Given the description of an element on the screen output the (x, y) to click on. 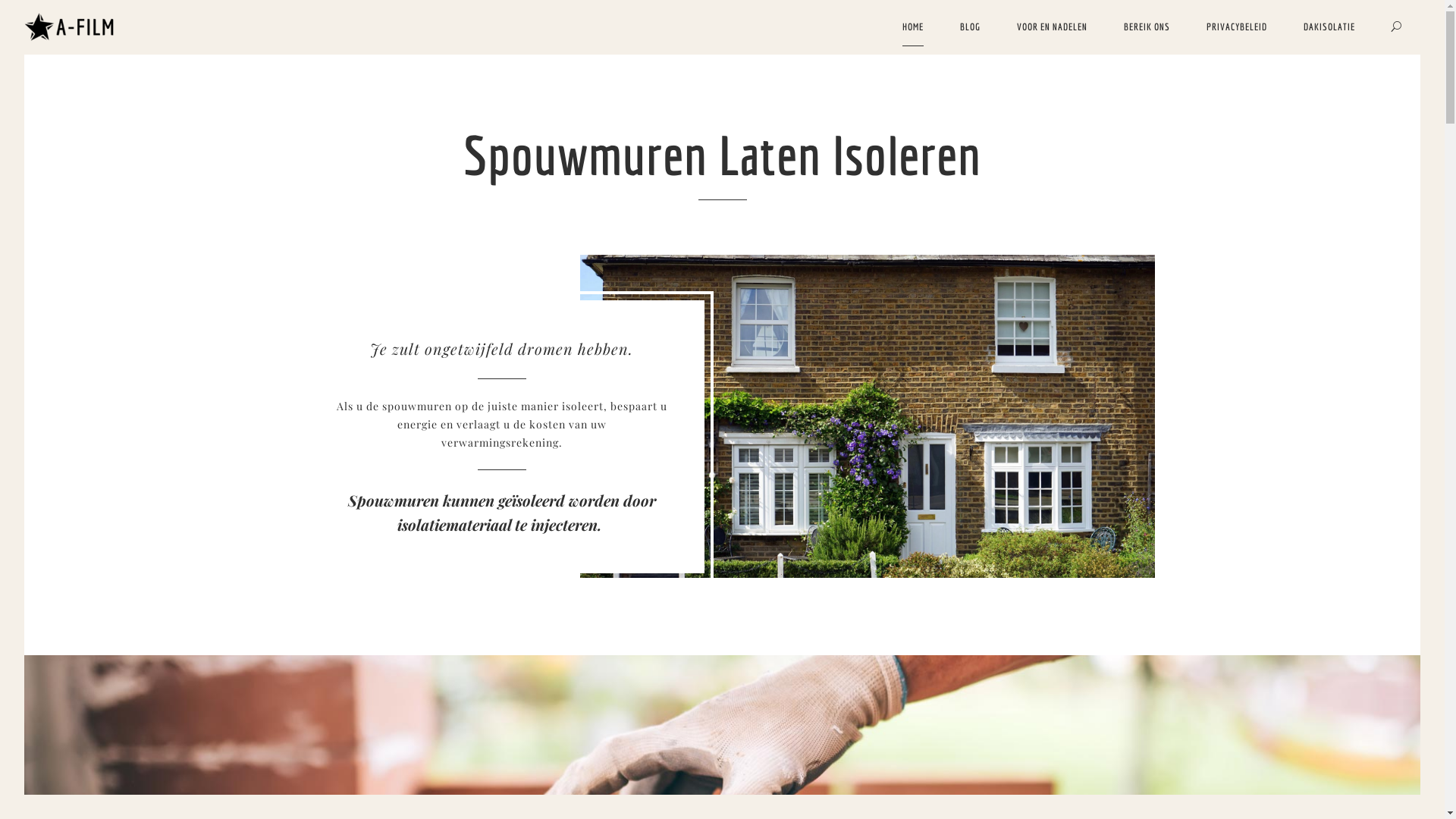
BLOG Element type: text (969, 27)
PRIVACYBELEID Element type: text (1236, 27)
VOOR EN NADELEN Element type: text (1051, 27)
Spouwmuren Laten Isoleren Element type: hover (71, 27)
HOME Element type: text (912, 27)
Search Element type: text (24, 10)
BEREIK ONS Element type: text (1146, 27)
DAKISOLATIE Element type: text (1329, 27)
Search Element type: text (1396, 27)
